Given the description of an element on the screen output the (x, y) to click on. 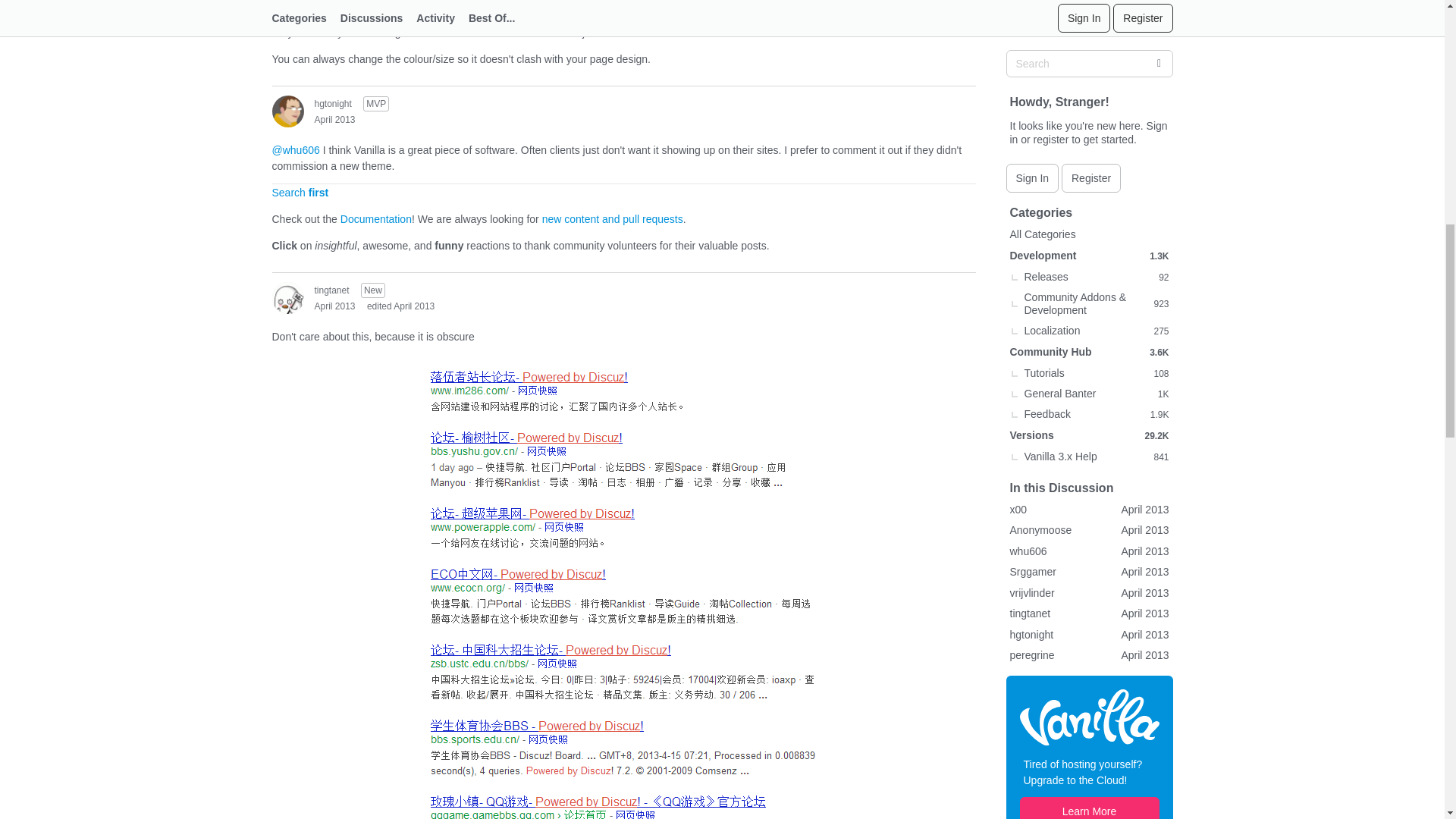
hgtonight (286, 111)
hgtonight (332, 103)
New (373, 290)
April 15, 2013 2:08PM (334, 119)
tingtanet (286, 297)
Most Valuable Poster (375, 103)
Vanilla (1088, 2)
